Given the description of an element on the screen output the (x, y) to click on. 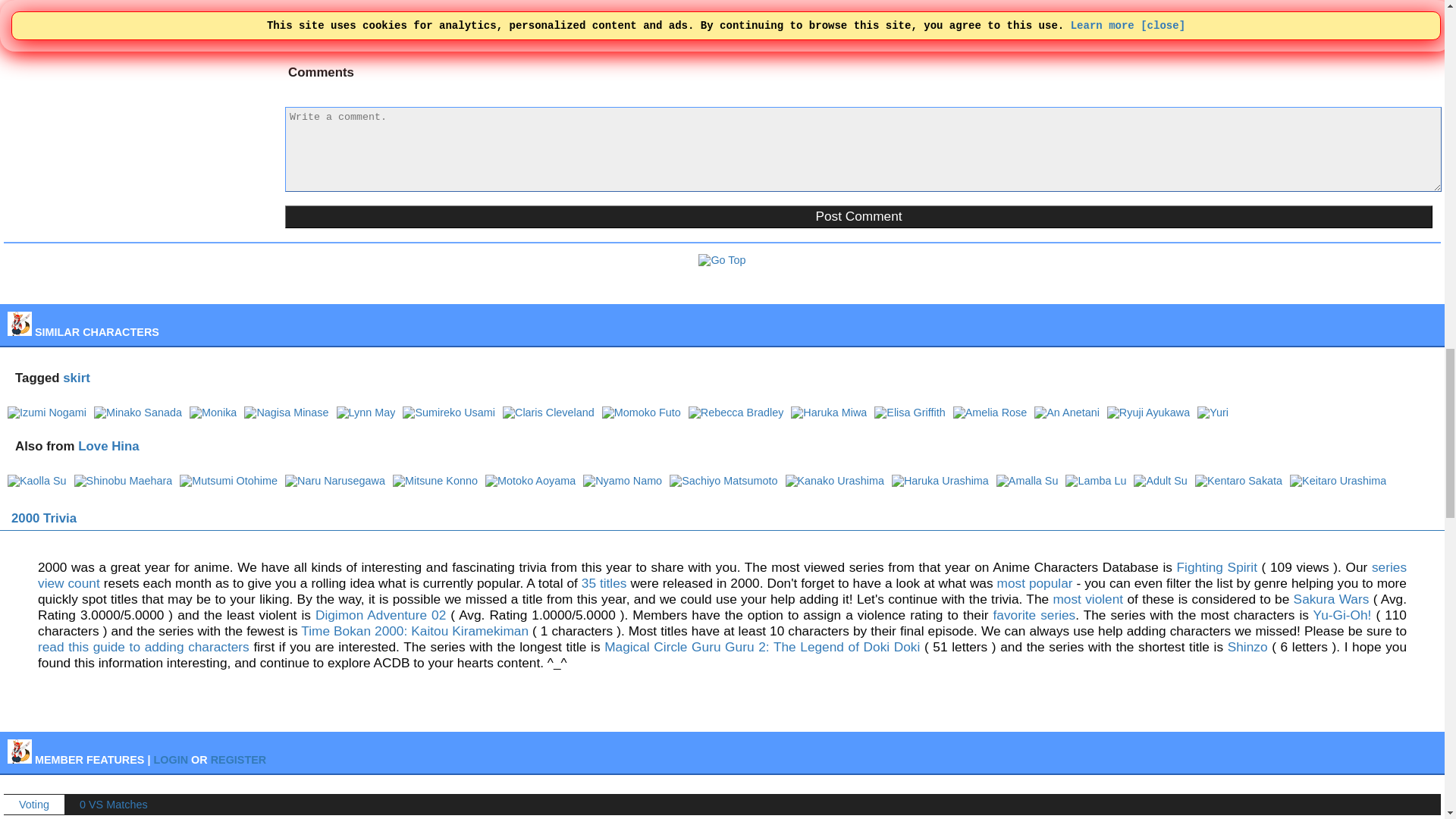
Post Comment (858, 216)
Minako Sanada (138, 412)
Nagisa Minase (286, 412)
Lynn May (366, 412)
Izumi Nogami (46, 412)
Go Top (721, 259)
Sumireko Usami (449, 412)
Rebecca Bradley (736, 412)
Claris Cleveland (548, 412)
Momoko Futo  (641, 412)
